Given the description of an element on the screen output the (x, y) to click on. 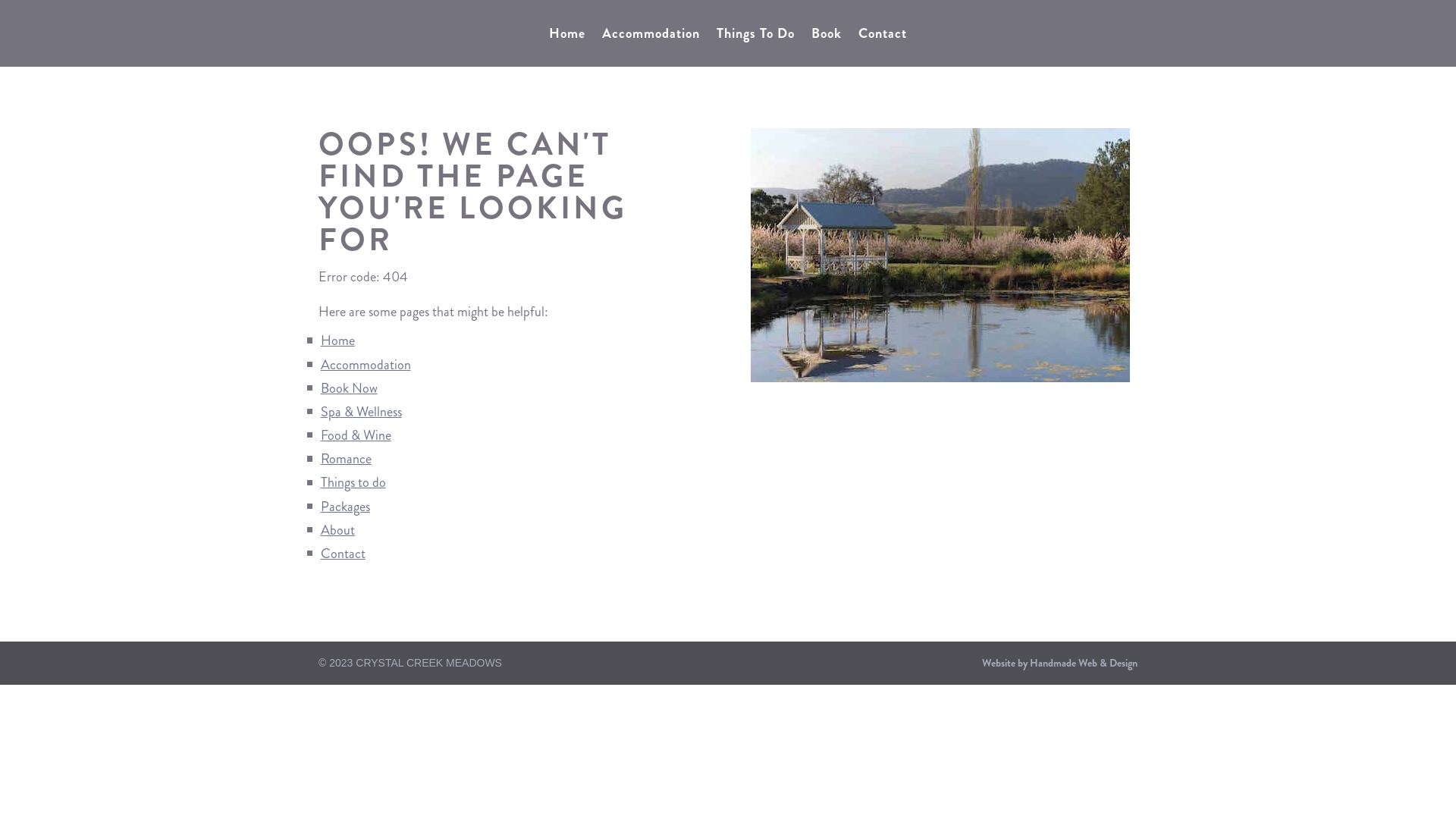
Home Element type: text (567, 36)
About Element type: text (337, 529)
Packages Element type: text (345, 506)
Things To Do Element type: text (755, 36)
Spa & Wellness Element type: text (360, 411)
Romance Element type: text (345, 458)
Book Now Element type: text (348, 388)
Book Element type: text (826, 36)
Accommodation Element type: text (650, 36)
Things to do Element type: text (352, 482)
Contact Element type: text (342, 553)
Home Element type: text (337, 340)
Website by Handmade Web & Design Element type: text (1059, 662)
Contact Element type: text (882, 36)
Accommodation Element type: text (365, 364)
Food & Wine Element type: text (355, 435)
